Given the description of an element on the screen output the (x, y) to click on. 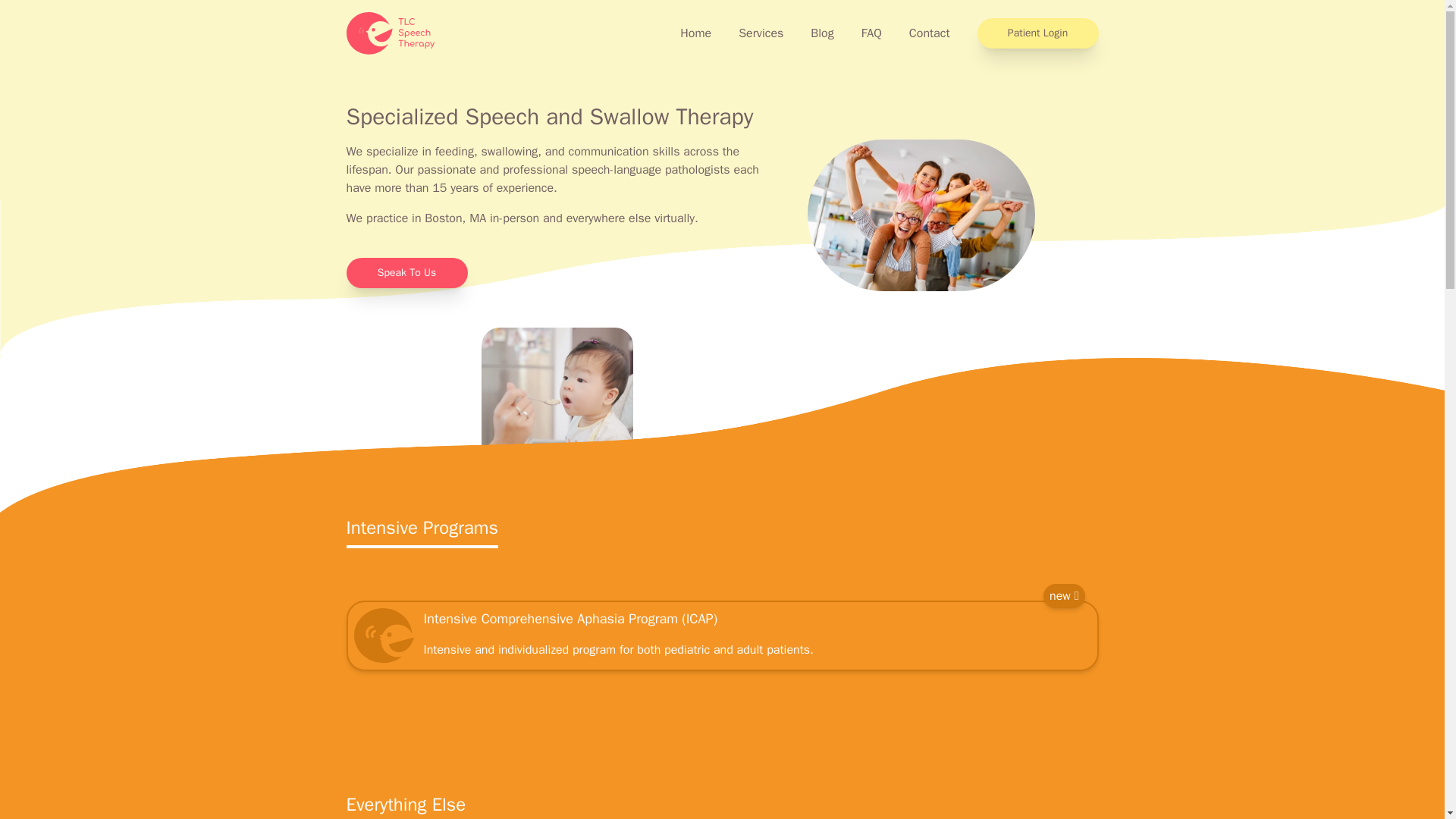
Contact (929, 33)
FAQ (871, 33)
Services (760, 33)
Home (695, 33)
Speak To Us (406, 272)
Blog (821, 33)
Patient Login (1037, 33)
